Given the description of an element on the screen output the (x, y) to click on. 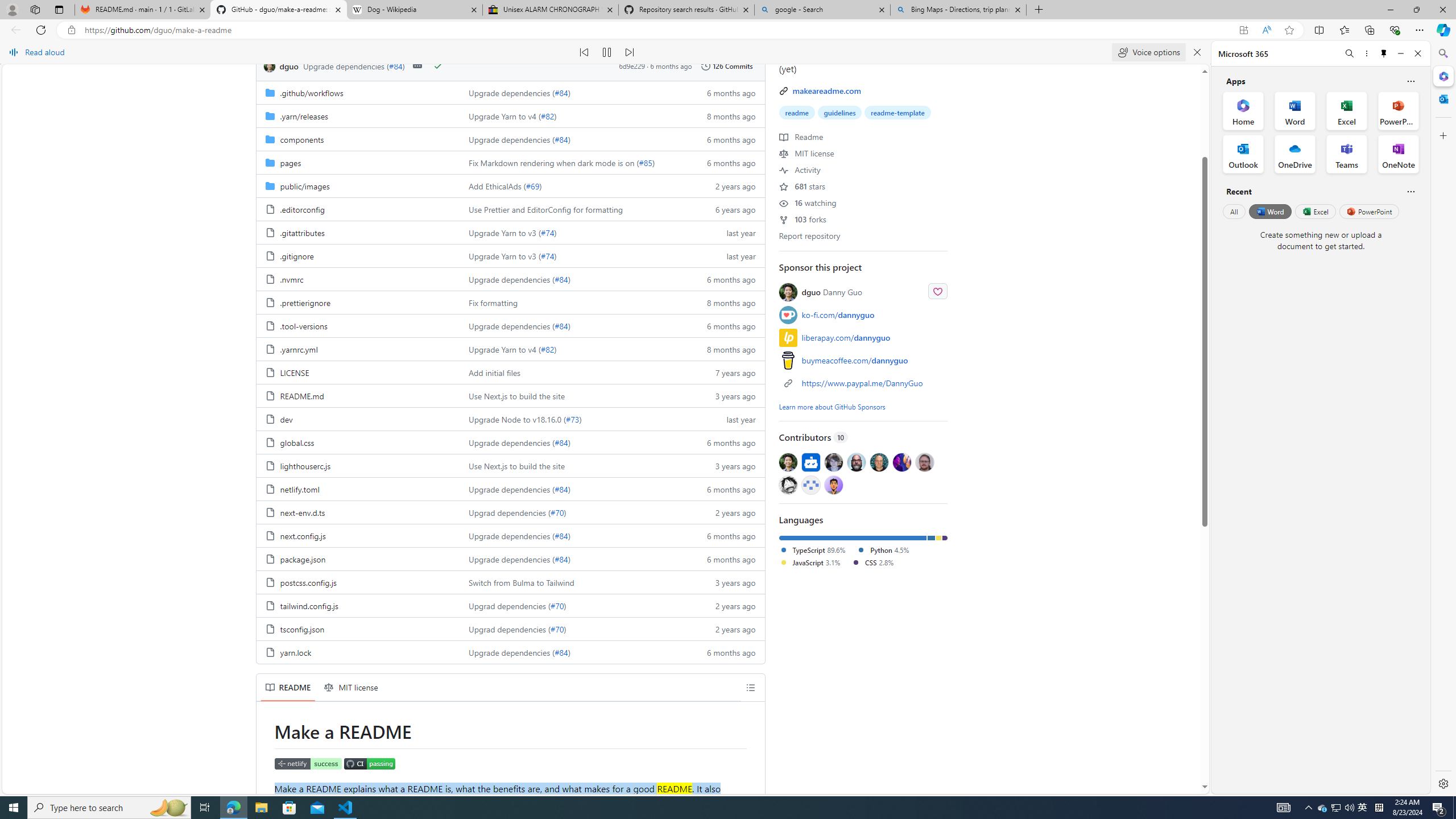
.prettierignore, (File) (304, 301)
Sponsor @dguo (937, 290)
Upgrade dependencies ( (511, 652)
last year (725, 418)
Voice options (1149, 52)
AutomationID: folder-row-8 (510, 278)
AutomationID: folder-row-6 (510, 232)
Side bar (1443, 418)
AutomationID: folder-row-20 (510, 558)
Outlook Office App (1243, 154)
126 Commits (726, 65)
AutomationID: folder-row-13 (510, 395)
liberapay.com/dannyguo (862, 337)
